Given the description of an element on the screen output the (x, y) to click on. 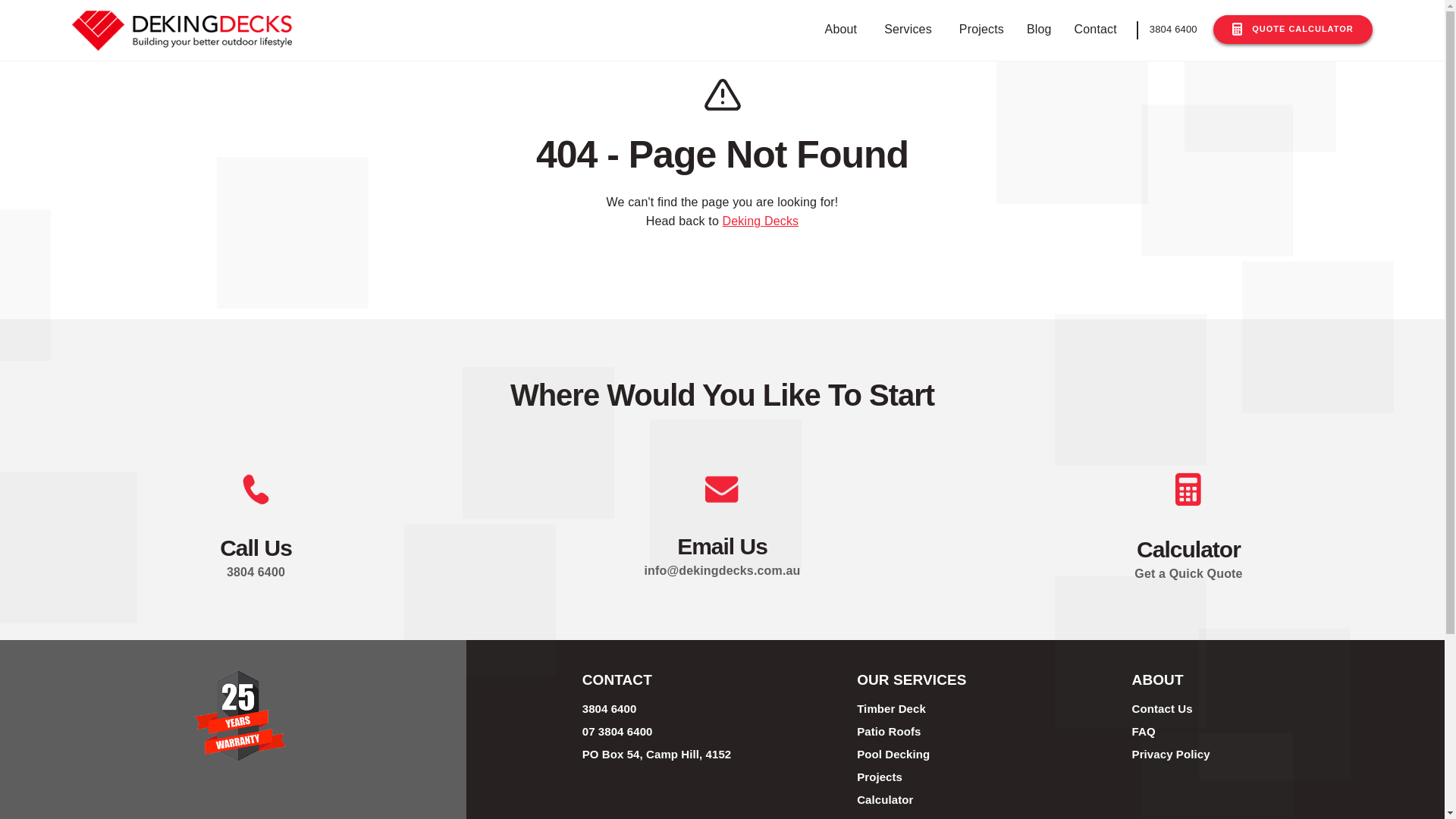
Projects Element type: text (879, 776)
3804 6400 Element type: text (609, 708)
Pool Decking Element type: text (892, 753)
FAQ Element type: text (1143, 730)
07 3804 6400 Element type: text (617, 730)
About Element type: text (841, 29)
Calculator
Get a Quick Quote Element type: text (1188, 506)
Patio Roofs Element type: text (888, 730)
QUOTE CALCULATOR Element type: text (1292, 29)
Deking Decks Element type: text (760, 220)
Contact Element type: text (1095, 29)
Calculator Element type: text (884, 799)
Call Us
3804 6400 Element type: text (255, 506)
Timber Deck Element type: text (890, 708)
Contact Us Element type: text (1162, 708)
Email Us
info@dekingdecks.com.au Element type: text (722, 506)
Projects Element type: text (981, 29)
Services Element type: text (907, 29)
3804 6400 Element type: text (1173, 30)
Blog Element type: text (1039, 29)
Privacy Policy Element type: text (1171, 753)
